Given the description of an element on the screen output the (x, y) to click on. 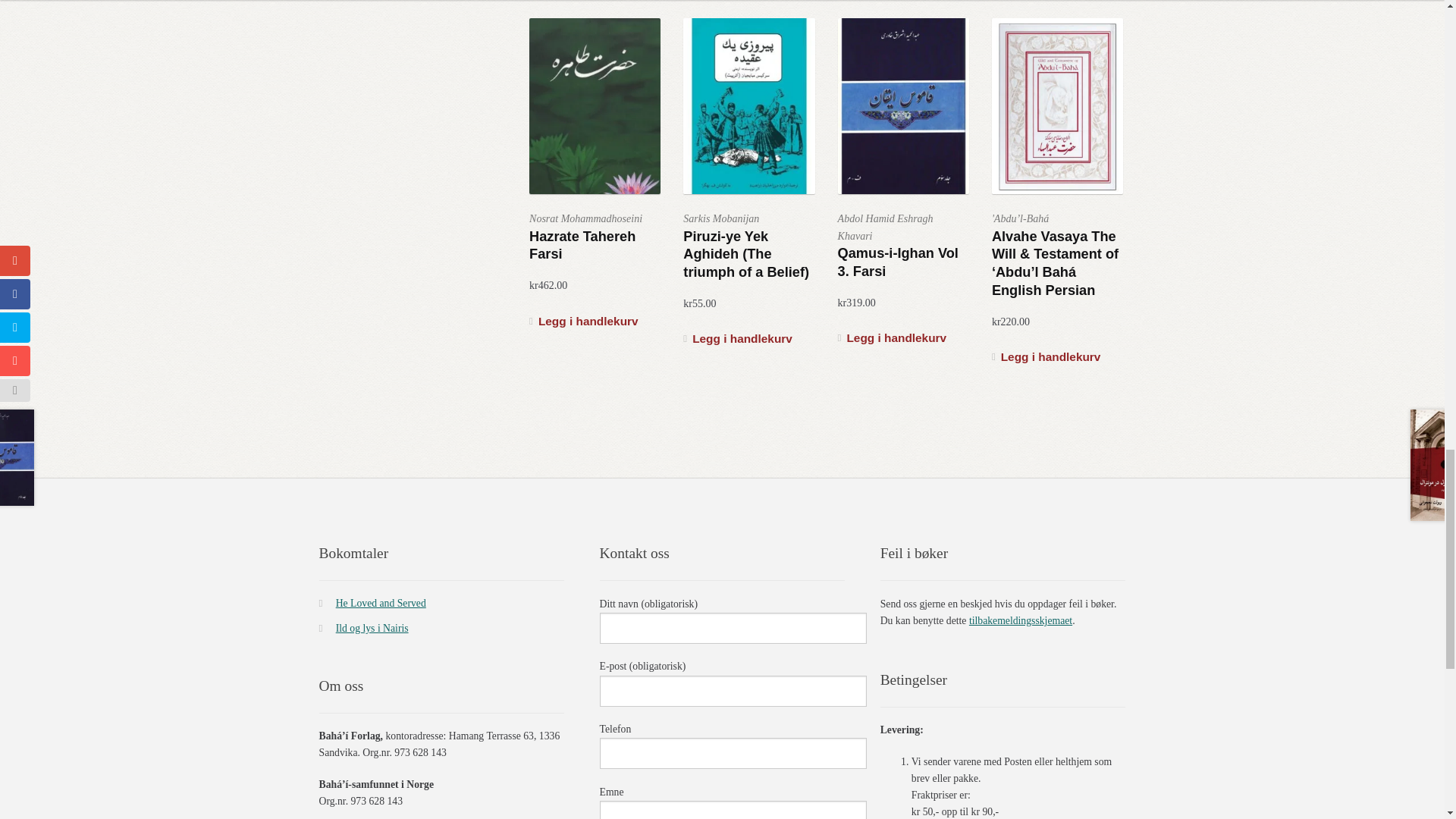
Minimum qty is 1 (584, 321)
Minimum qty is 1 (892, 338)
Minimum qty is 1 (737, 339)
Minimum qty is 1 (1045, 357)
